Given the description of an element on the screen output the (x, y) to click on. 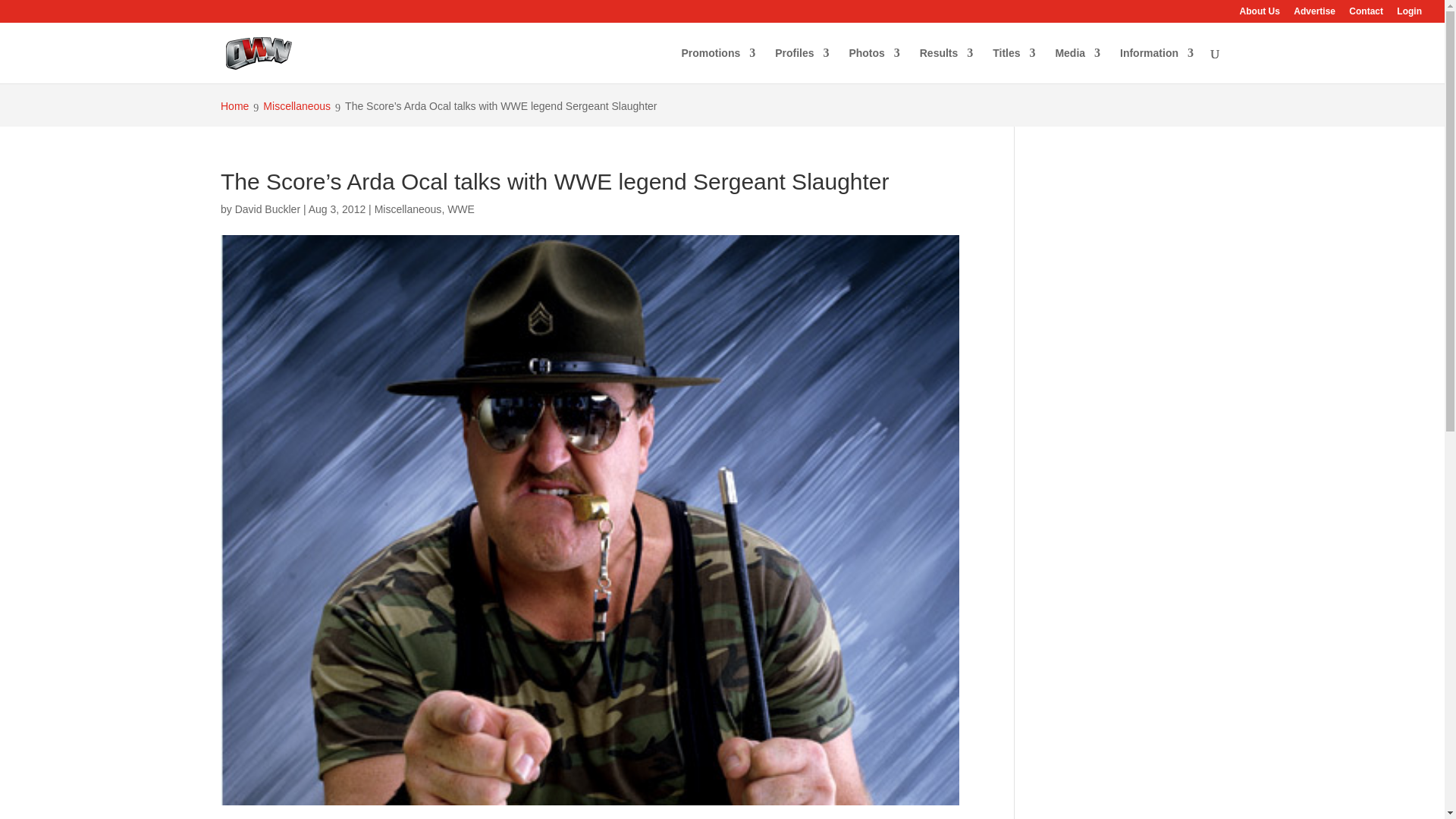
Login (1409, 14)
Posts by David Buckler (266, 209)
Promotions (718, 65)
Contact (1366, 14)
About Us (1259, 14)
Profiles (801, 65)
Advertise (1314, 14)
